Given the description of an element on the screen output the (x, y) to click on. 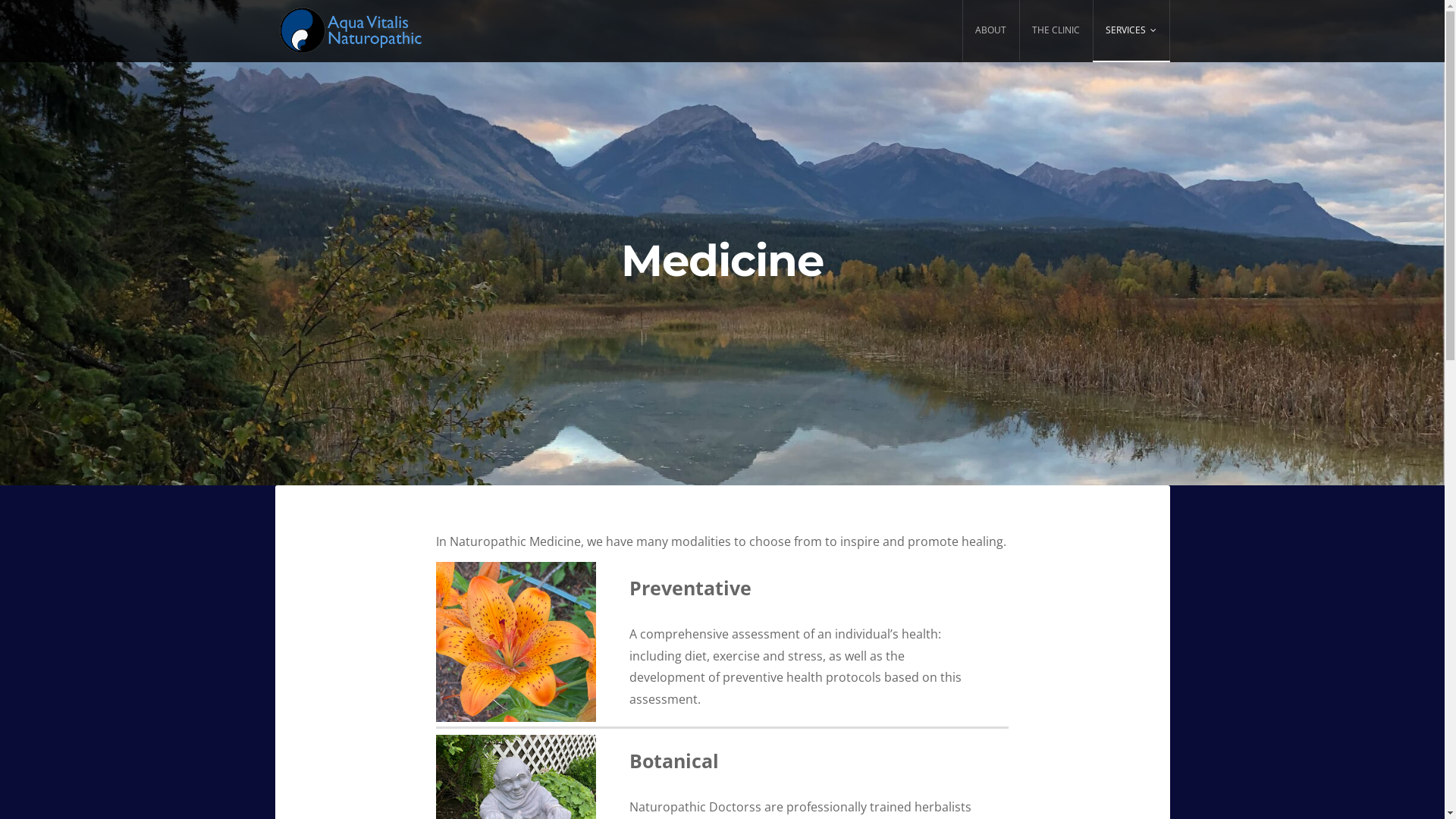
SERVICES Element type: text (1131, 30)
ABOUT Element type: text (990, 30)
THE CLINIC Element type: text (1055, 30)
